Given the description of an element on the screen output the (x, y) to click on. 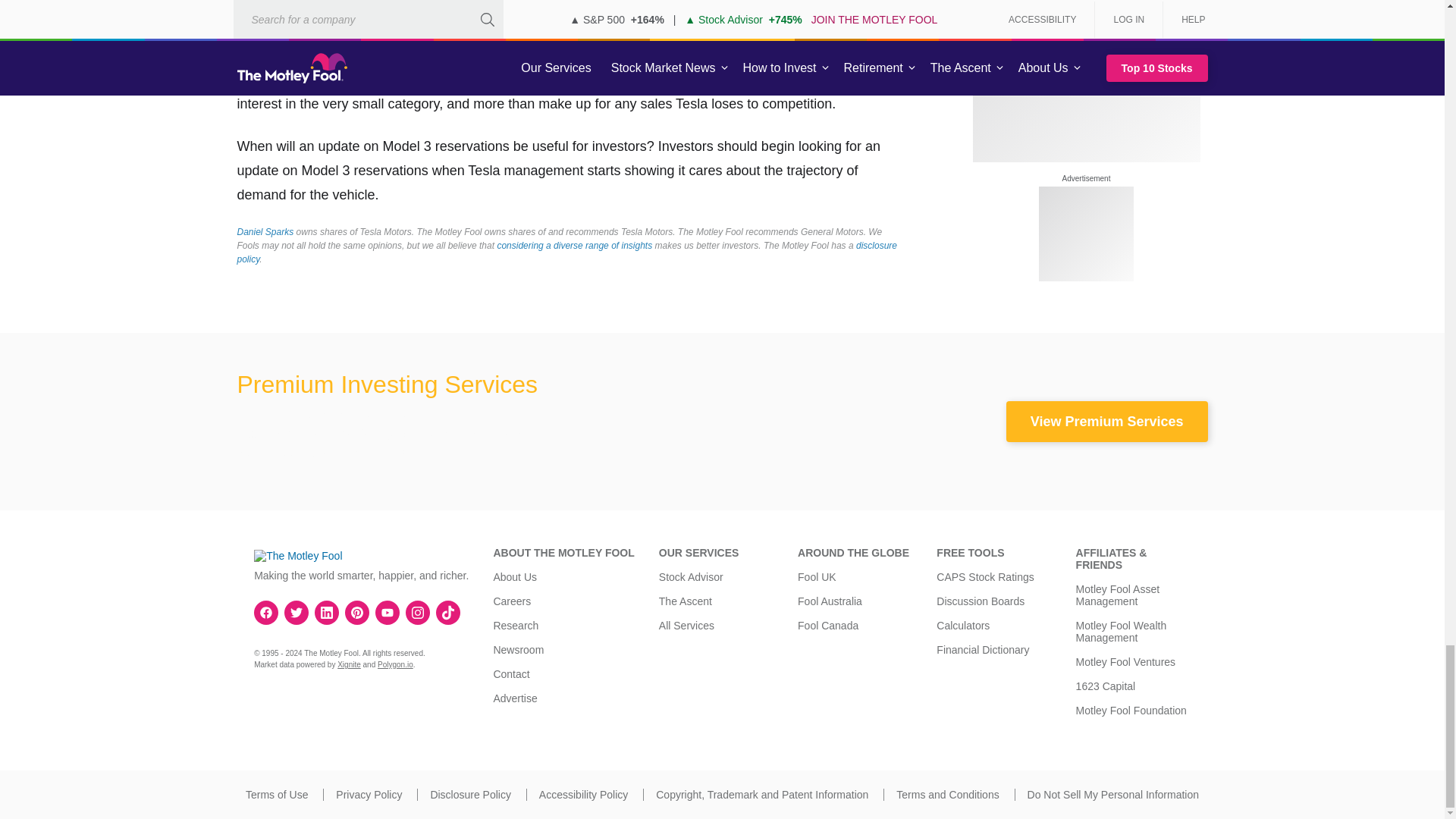
Terms and Conditions (947, 794)
Privacy Policy (368, 794)
Disclosure Policy (470, 794)
Accessibility Policy (582, 794)
Do Not Sell My Personal Information. (1112, 794)
Copyright, Trademark and Patent Information (761, 794)
Terms of Use (276, 794)
